Given the description of an element on the screen output the (x, y) to click on. 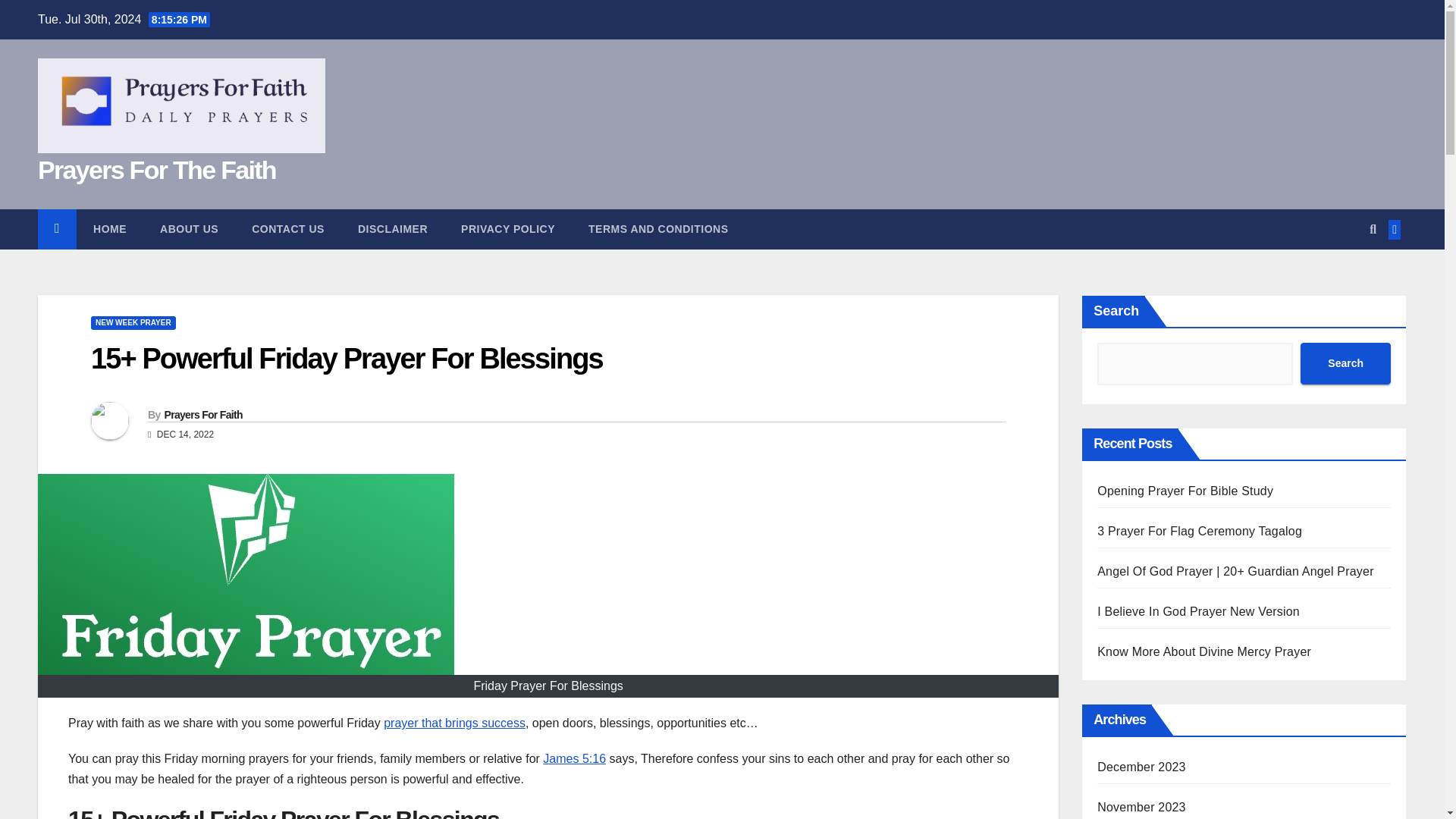
Contact Us (287, 228)
Terms And Conditions (658, 228)
James 5:16 (574, 758)
CONTACT US (287, 228)
Home (109, 228)
Prayers For Faith (202, 414)
PRIVACY POLICY (508, 228)
HOME (109, 228)
Privacy Policy (508, 228)
DISCLAIMER (392, 228)
Prayers For The Faith (156, 169)
About Us (188, 228)
prayer that brings success (454, 722)
NEW WEEK PRAYER (133, 323)
TERMS AND CONDITIONS (658, 228)
